Given the description of an element on the screen output the (x, y) to click on. 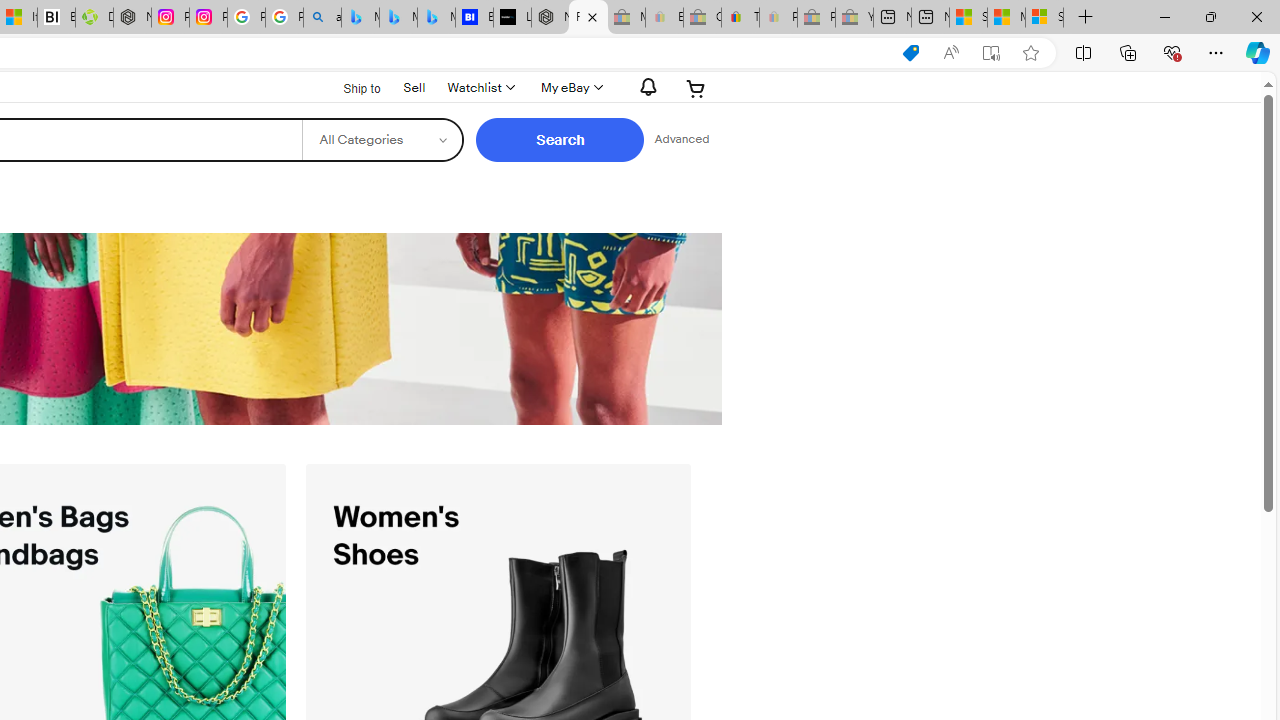
Nordace - Nordace Edin Collection (132, 17)
My eBay (569, 88)
Your shopping cart (696, 88)
Watchlist (479, 88)
Shanghai, China hourly forecast | Microsoft Weather (967, 17)
Expand Cart (696, 88)
Microsoft Bing Travel - Shangri-La Hotel Bangkok (436, 17)
